Given the description of an element on the screen output the (x, y) to click on. 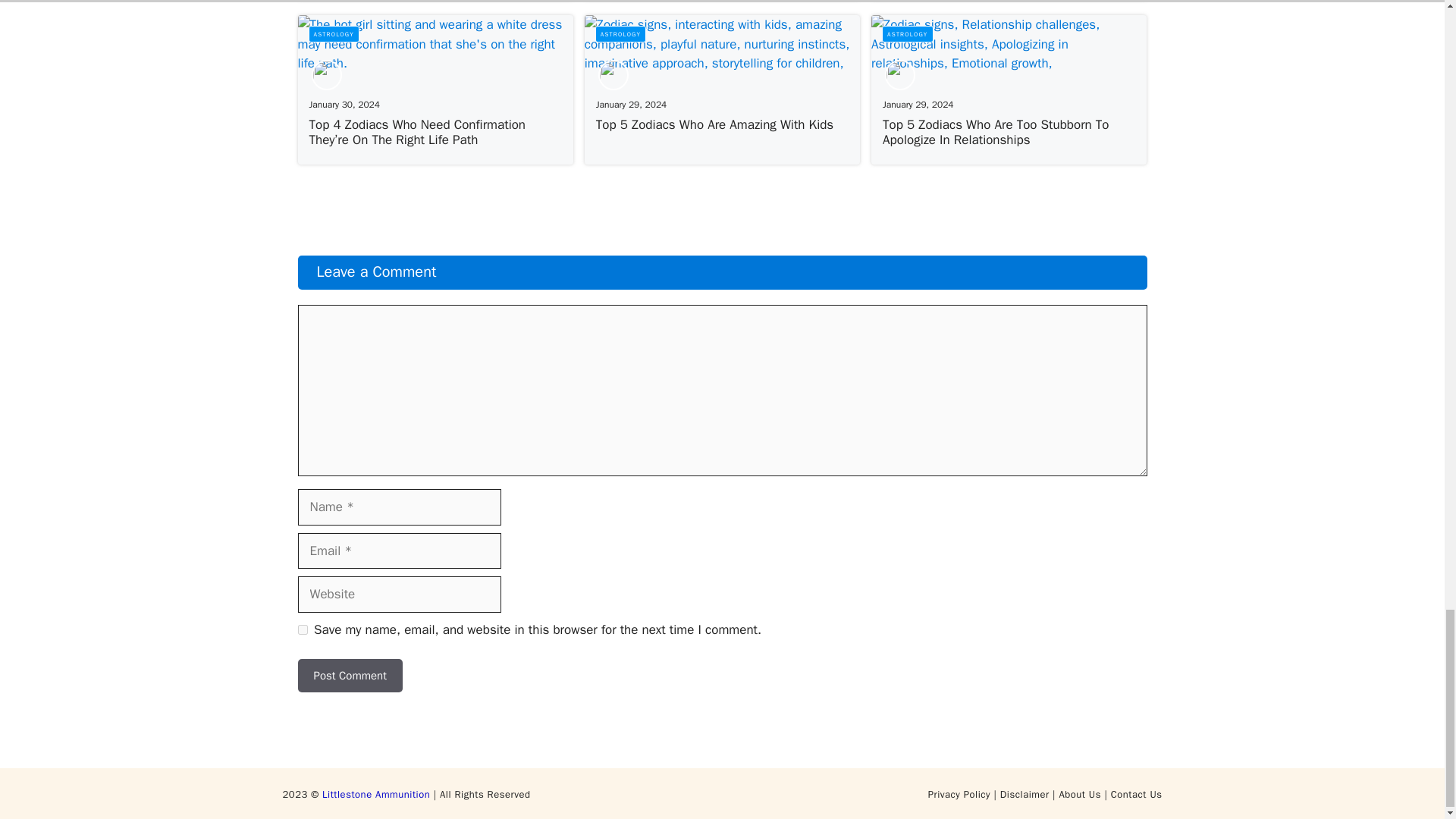
ASTROLOGY (620, 33)
ASTROLOGY (332, 33)
yes (302, 629)
Post Comment (349, 675)
